Given the description of an element on the screen output the (x, y) to click on. 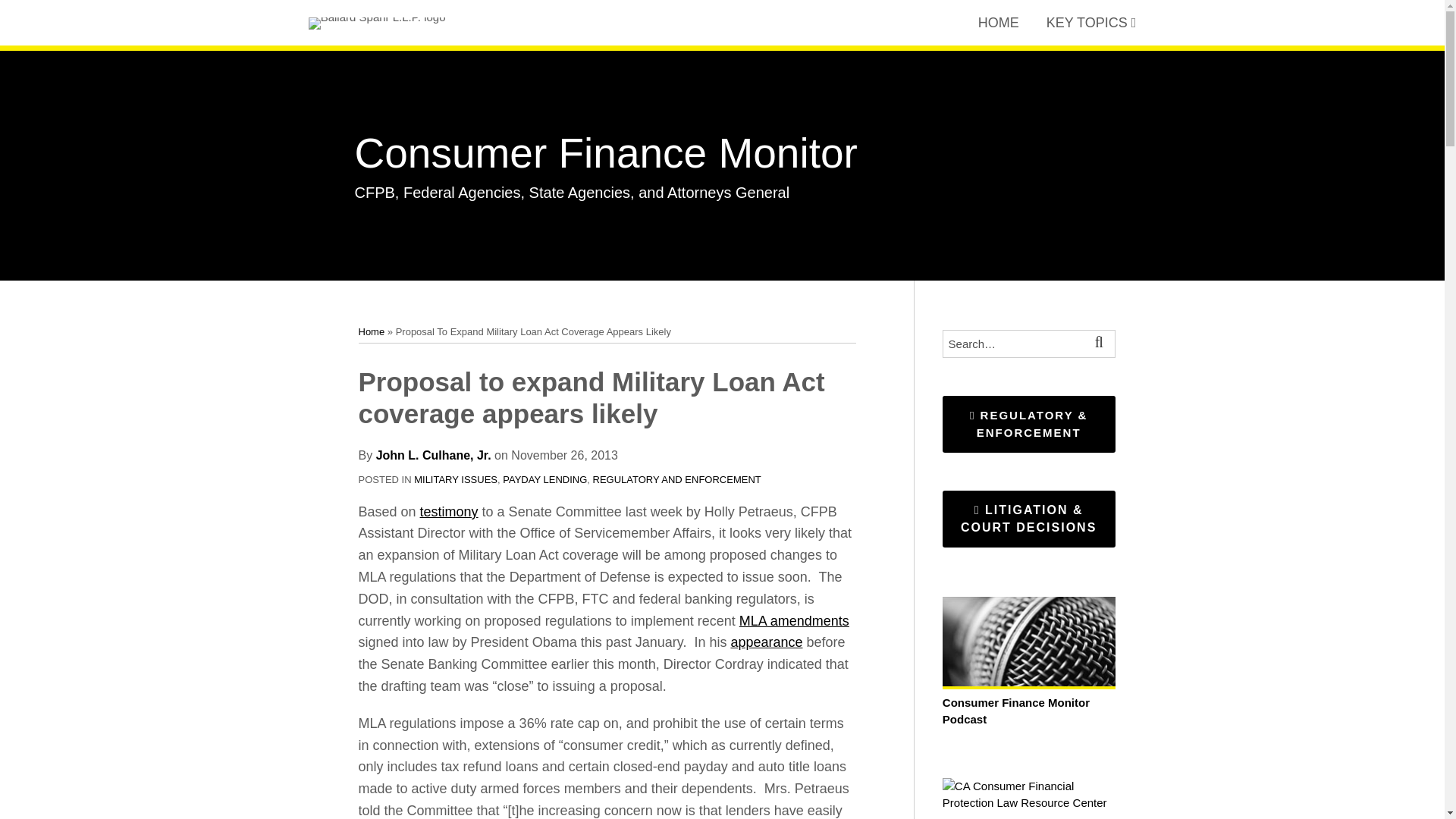
Consumer Finance Monitor Podcast (1028, 701)
Home (371, 331)
Kaplinsky blog post (793, 620)
testimony (449, 511)
PAYDAY LENDING (544, 479)
HOME (998, 22)
MLA amendments (793, 620)
Mishkin blog post (766, 642)
appearance (766, 642)
Consumer Finance Monitor (606, 152)
